Given the description of an element on the screen output the (x, y) to click on. 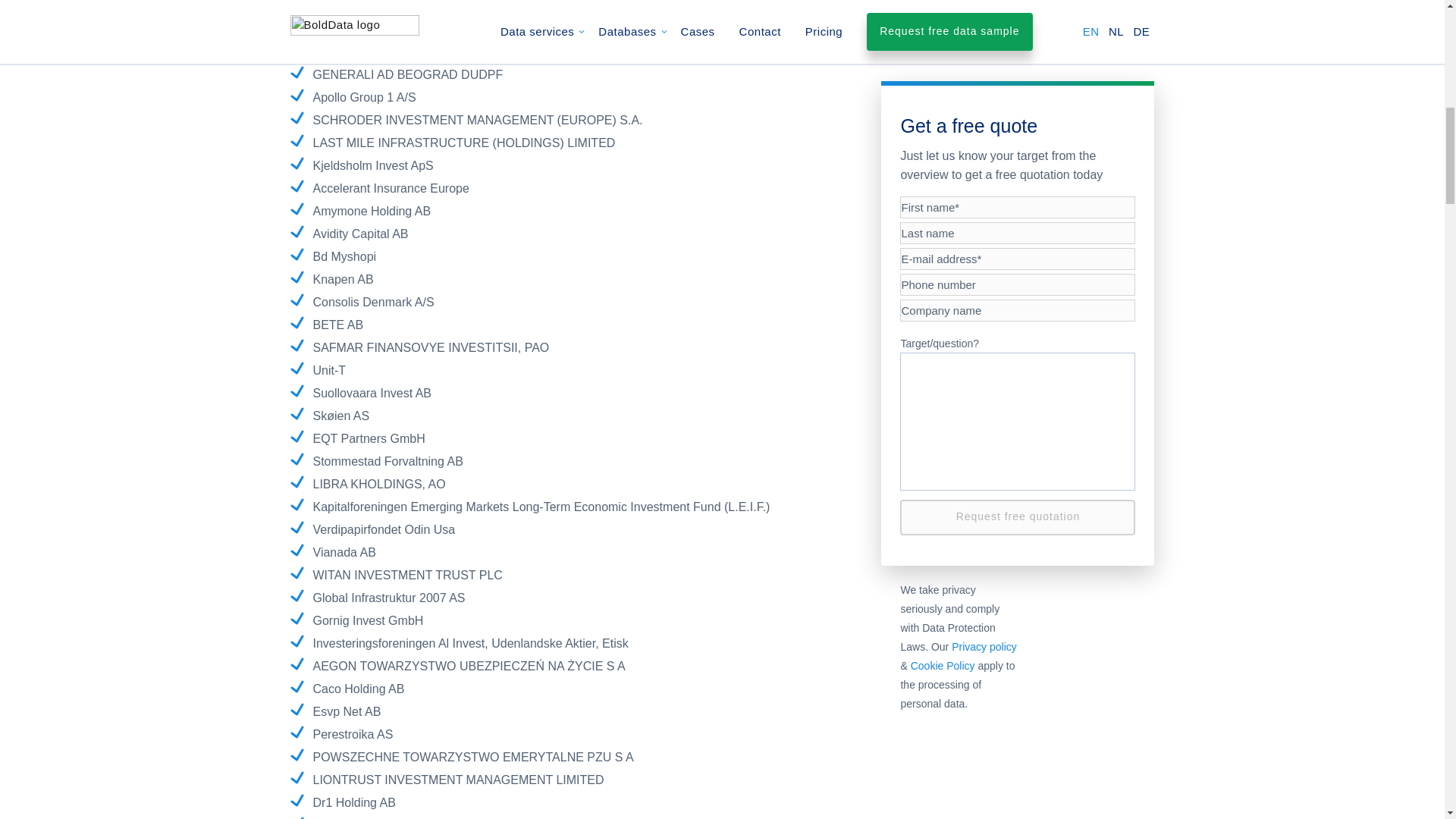
Privacy policy (984, 5)
Cookie Policy (943, 23)
